Given the description of an element on the screen output the (x, y) to click on. 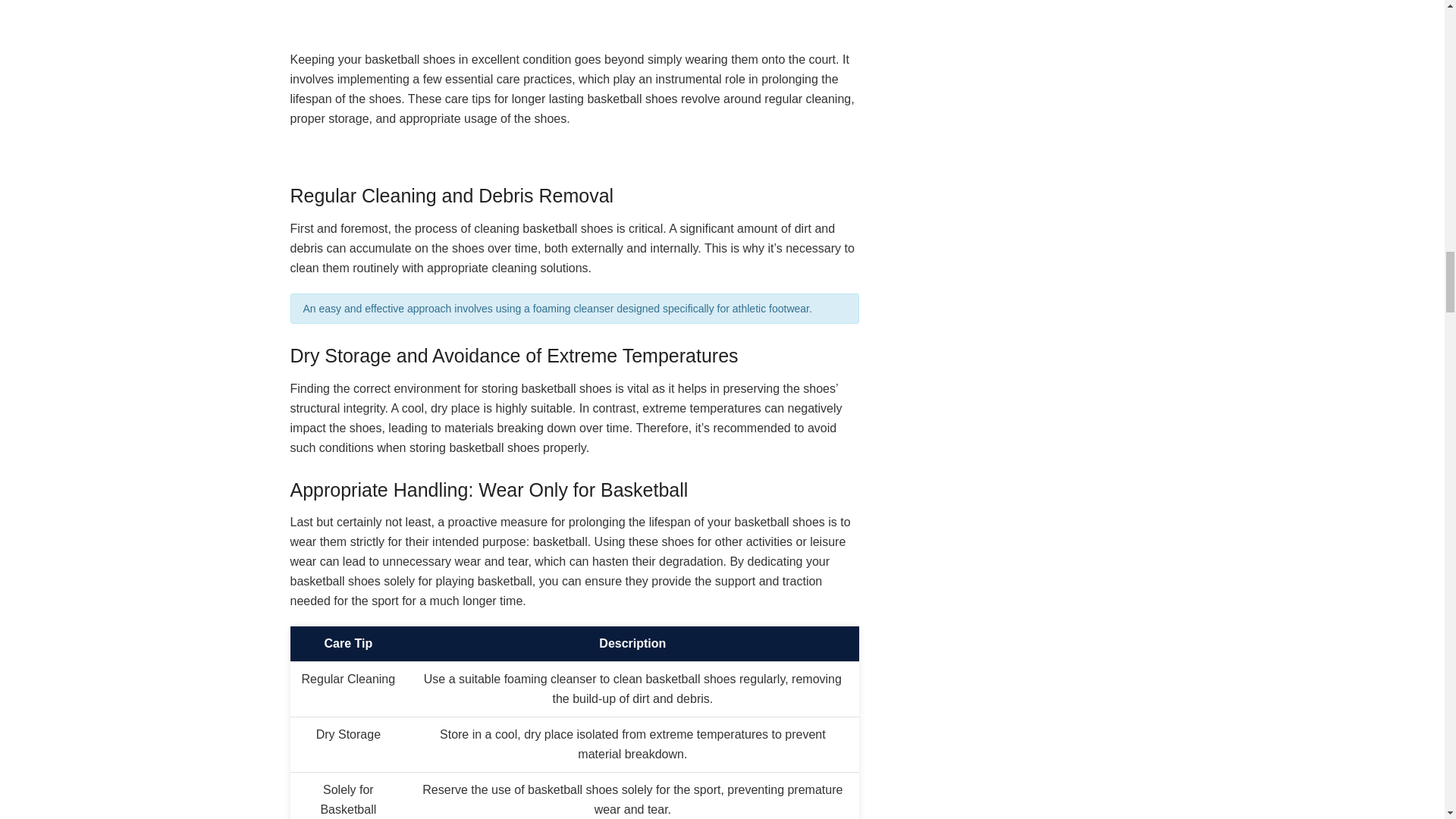
Cleaning Basketball Shoes (574, 17)
